Given the description of an element on the screen output the (x, y) to click on. 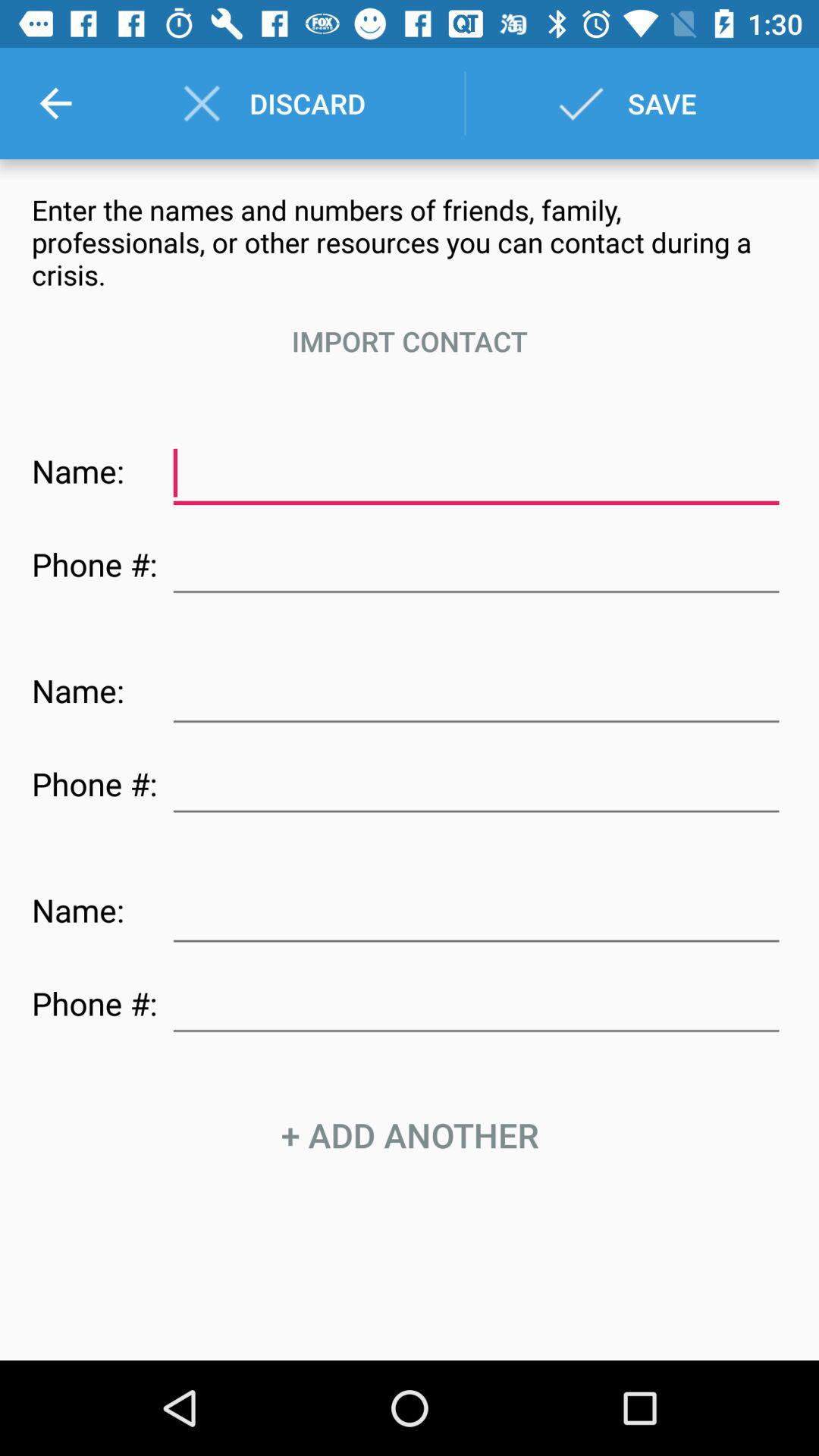
open app to the left of the discard item (55, 103)
